Given the description of an element on the screen output the (x, y) to click on. 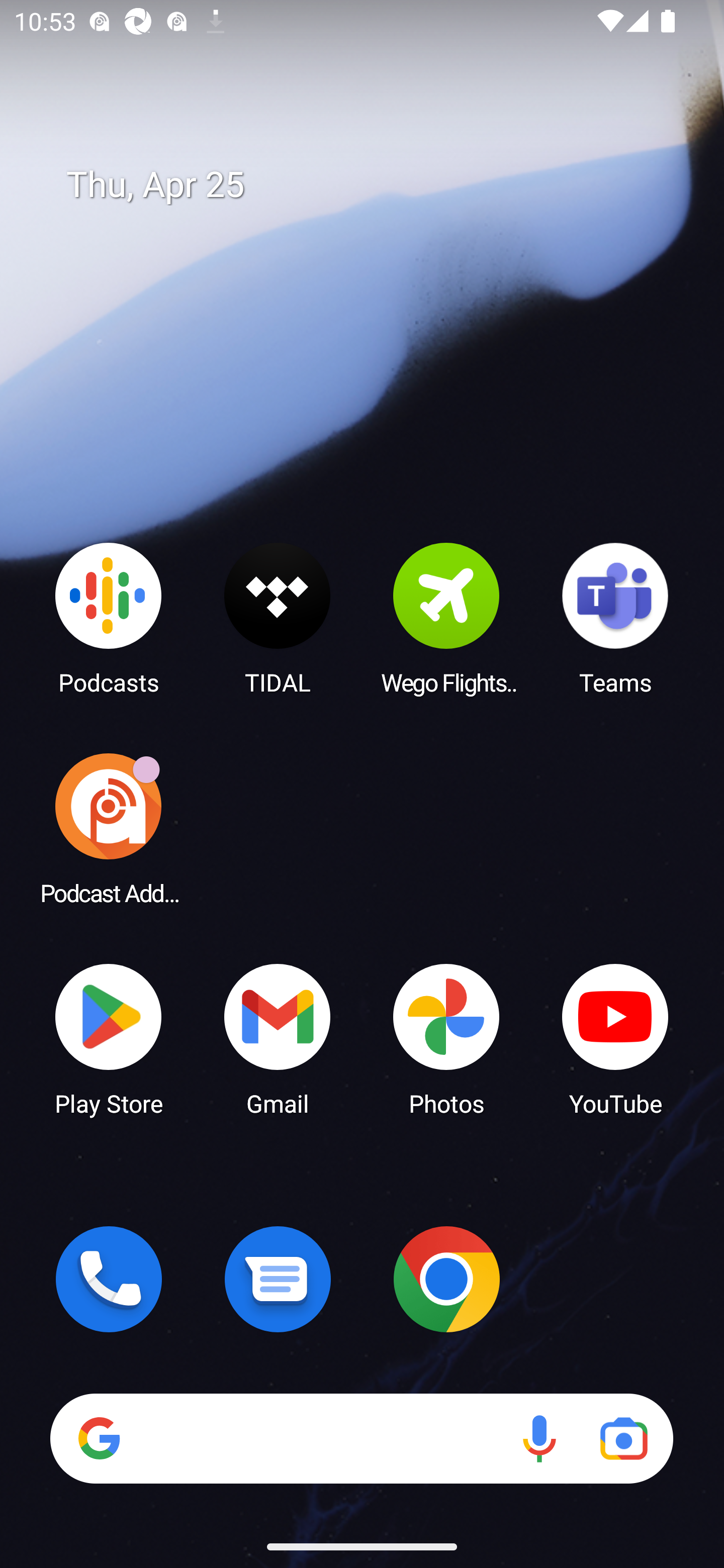
Thu, Apr 25 (375, 184)
Podcasts (108, 617)
TIDAL (277, 617)
Wego Flights & Hotels (445, 617)
Teams (615, 617)
Play Store (108, 1038)
Gmail (277, 1038)
Photos (445, 1038)
YouTube (615, 1038)
Phone (108, 1279)
Messages (277, 1279)
Chrome (446, 1279)
Search Voice search Google Lens (361, 1438)
Voice search (539, 1438)
Google Lens (623, 1438)
